Given the description of an element on the screen output the (x, y) to click on. 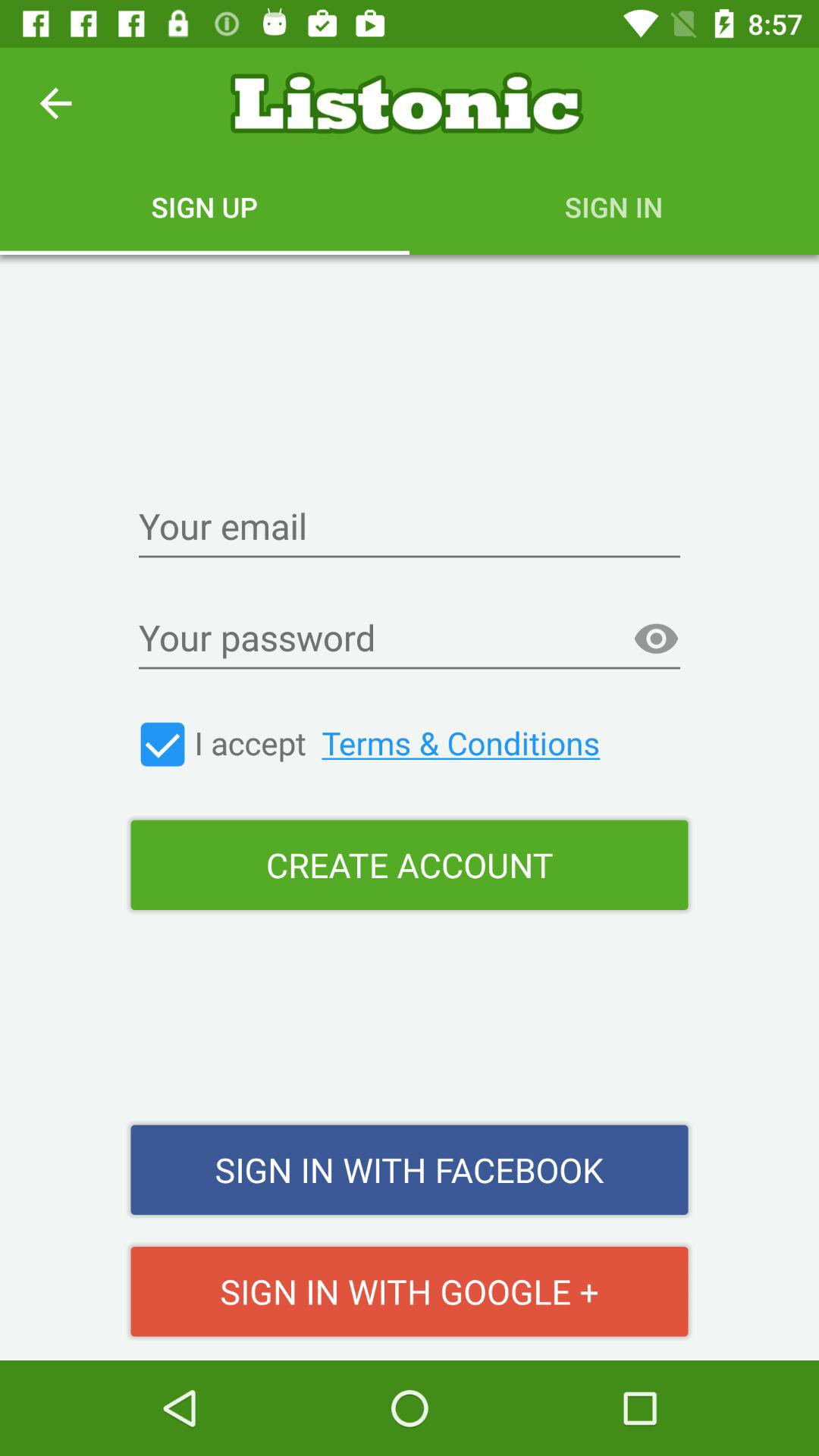
launch the item above create account icon (162, 744)
